Given the description of an element on the screen output the (x, y) to click on. 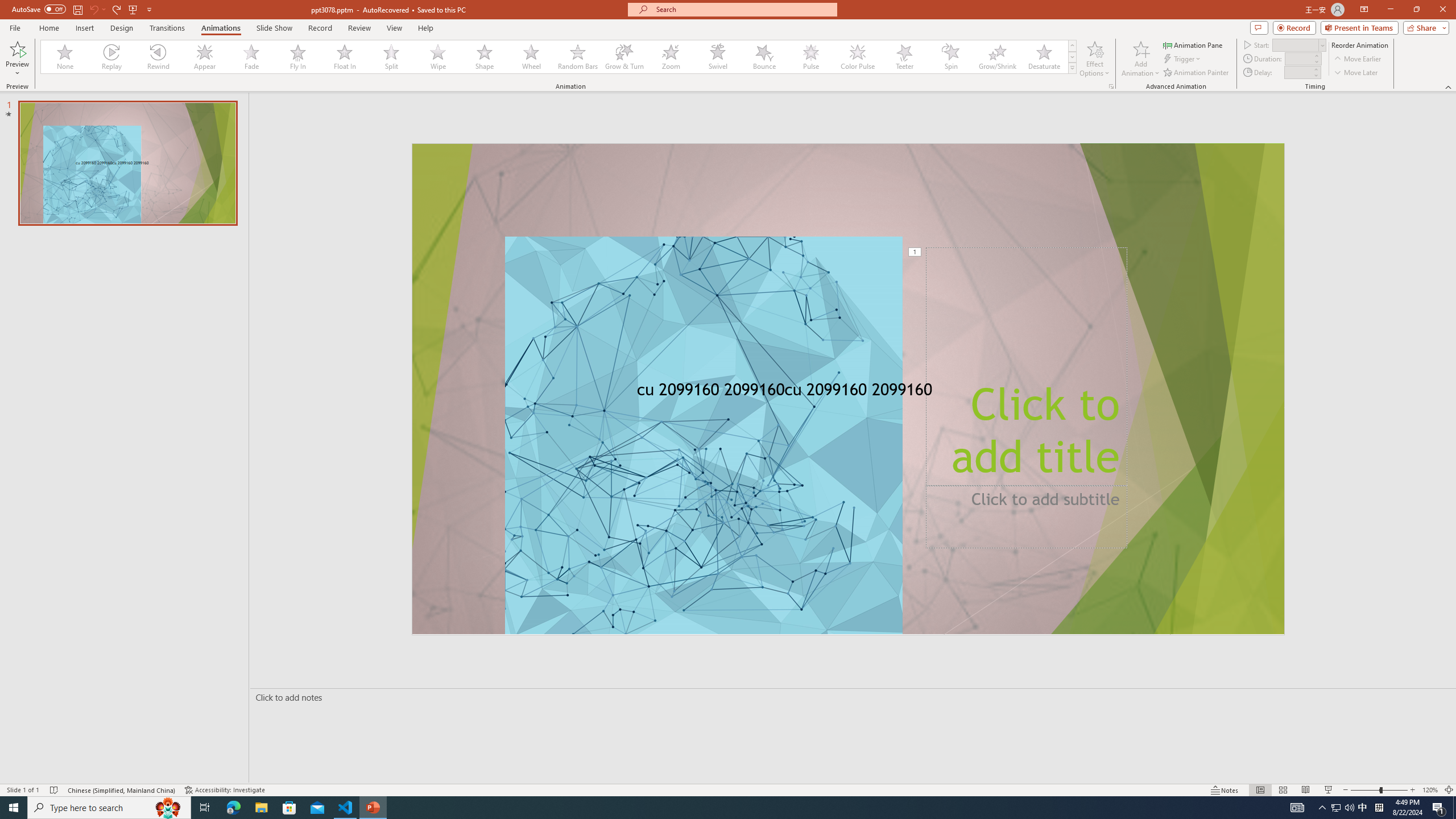
More (1315, 69)
Fade (251, 56)
Effect Options (1094, 58)
Open (1321, 44)
Row up (1071, 45)
